Given the description of an element on the screen output the (x, y) to click on. 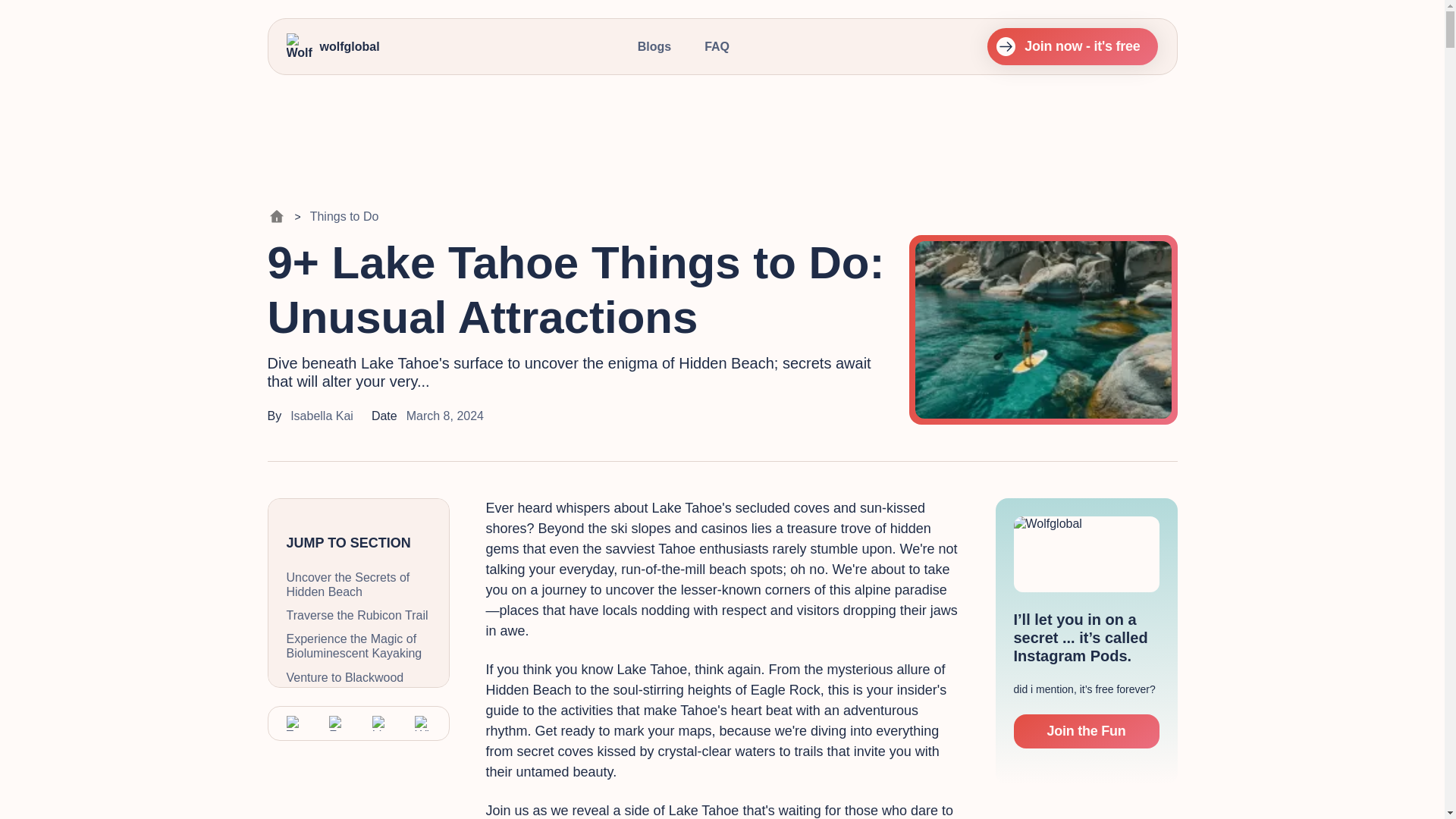
Traverse the Rubicon Trail (358, 615)
Blogs (654, 46)
Venture to Blackwood Canyon for Solitude (358, 684)
Savor the Flavors at a Secret Tahoe Winery (358, 722)
Uncover the Secrets of Hidden Beach (358, 584)
Experience the Magic of Bioluminescent Kayaking (358, 645)
Paddleboard to the Hidden Castle Ruins (358, 799)
FAQ (717, 46)
Join now - it's free (1072, 46)
Discover Eagle Rock Hiking Haven (358, 760)
Things to Do (344, 216)
Isabella Kai (321, 415)
wolfglobal (333, 46)
